Given the description of an element on the screen output the (x, y) to click on. 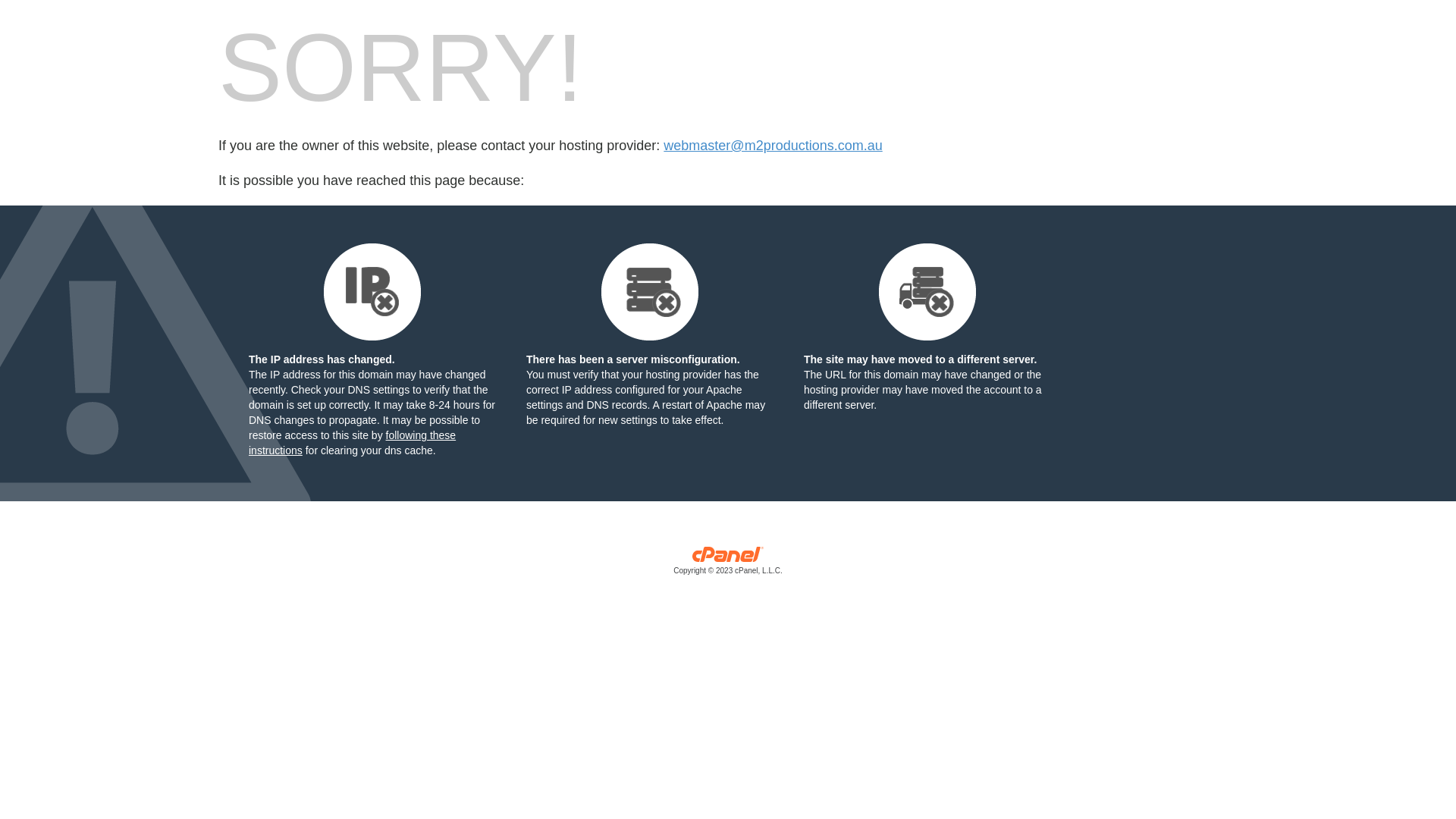
webmaster@m2productions.com.au Element type: text (772, 145)
following these instructions Element type: text (351, 442)
